Given the description of an element on the screen output the (x, y) to click on. 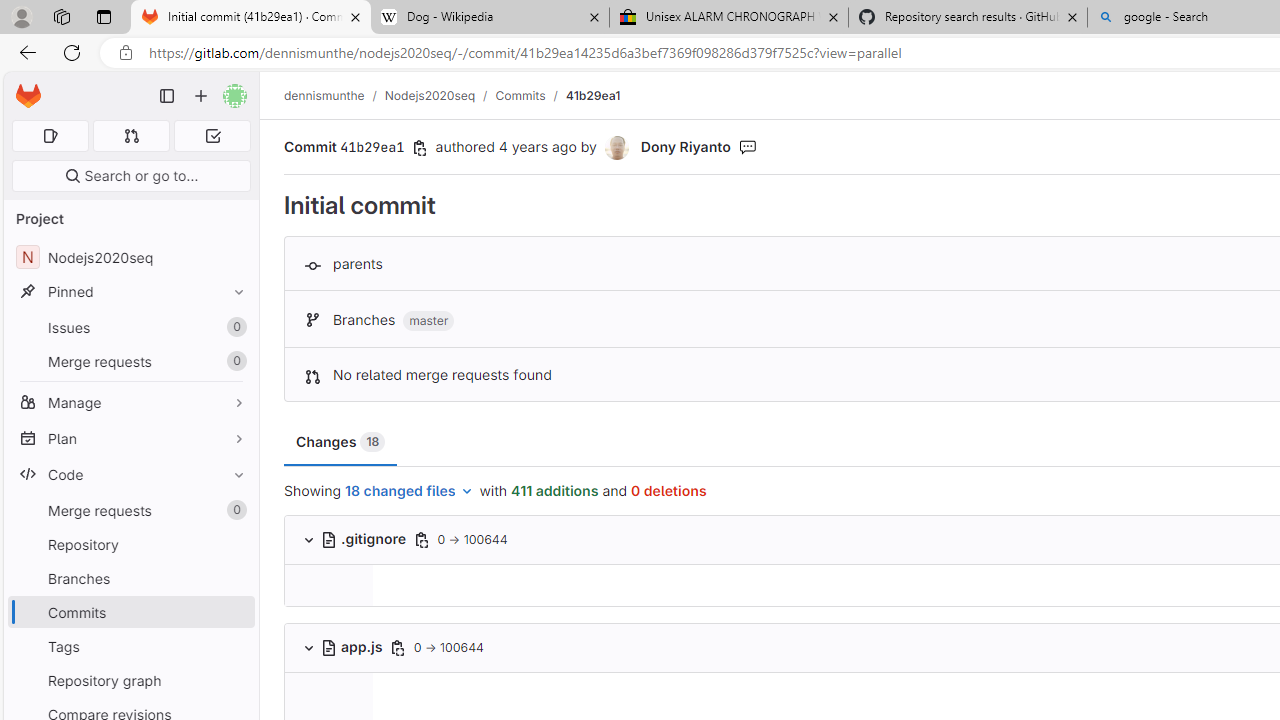
Copy file path (397, 647)
app.js  (353, 646)
Merge requests 0 (131, 136)
Commits (520, 95)
Dony Riyanto (685, 146)
Branches (130, 578)
.gitignore  (364, 538)
Pin Branches (234, 578)
Issues 0 (130, 327)
